Given the description of an element on the screen output the (x, y) to click on. 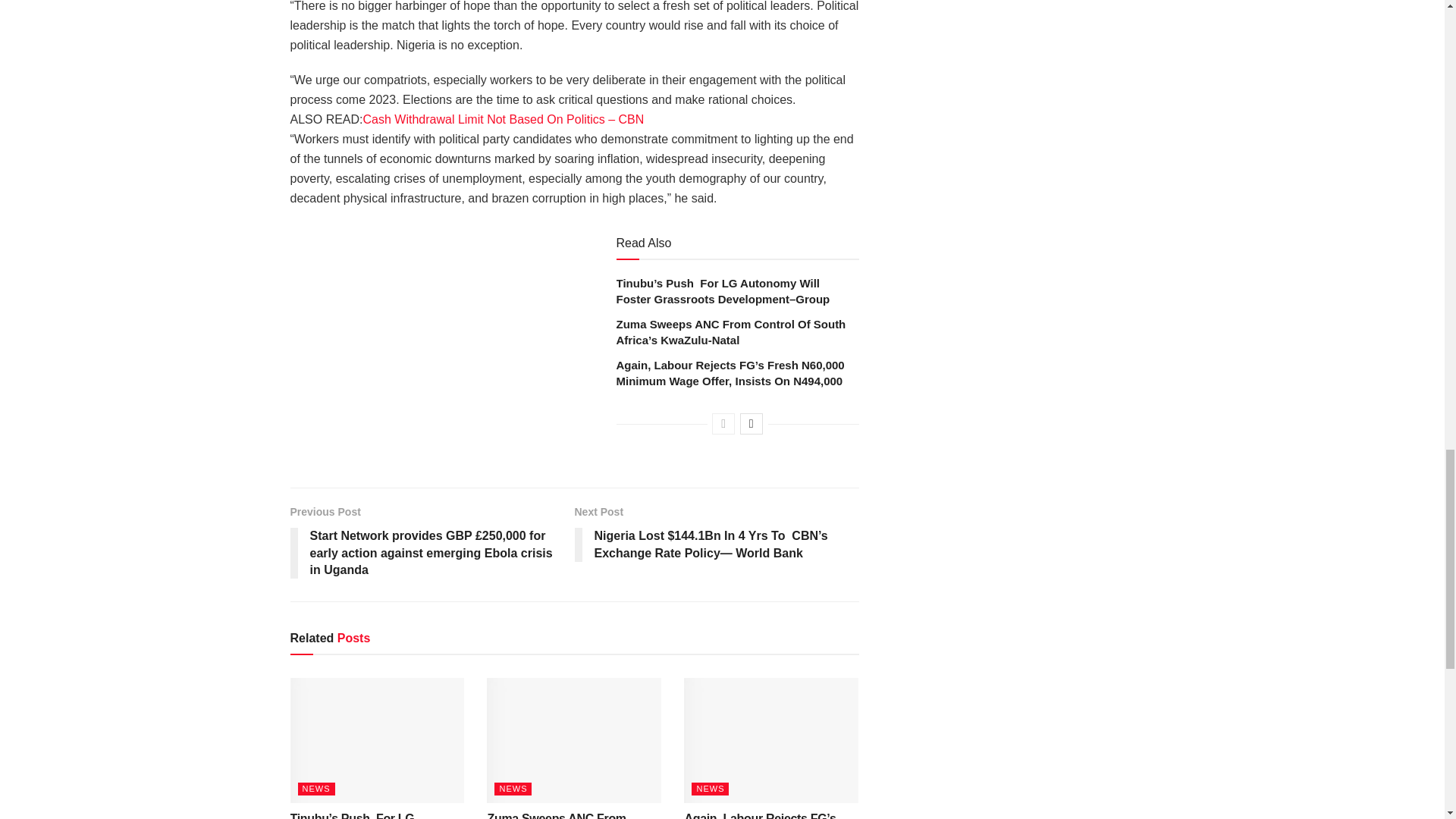
Previous (723, 423)
Next (750, 423)
